Given the description of an element on the screen output the (x, y) to click on. 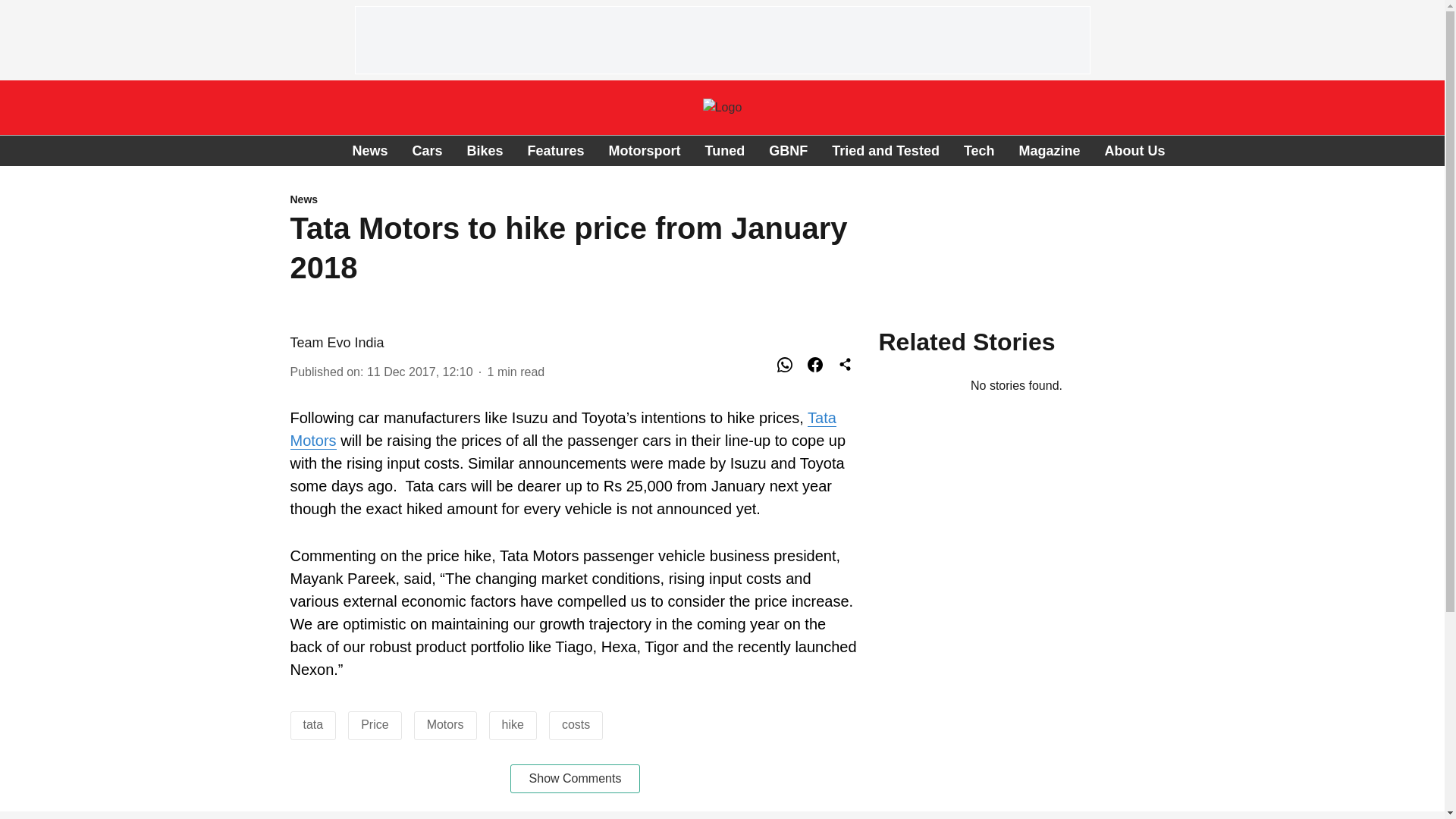
GBNF (788, 150)
Magazine (1049, 150)
Tried and Tested (885, 150)
Tata Motors (562, 429)
Cars (427, 150)
Bikes (483, 150)
Tech (978, 150)
Tuned (724, 150)
News (574, 200)
